Given the description of an element on the screen output the (x, y) to click on. 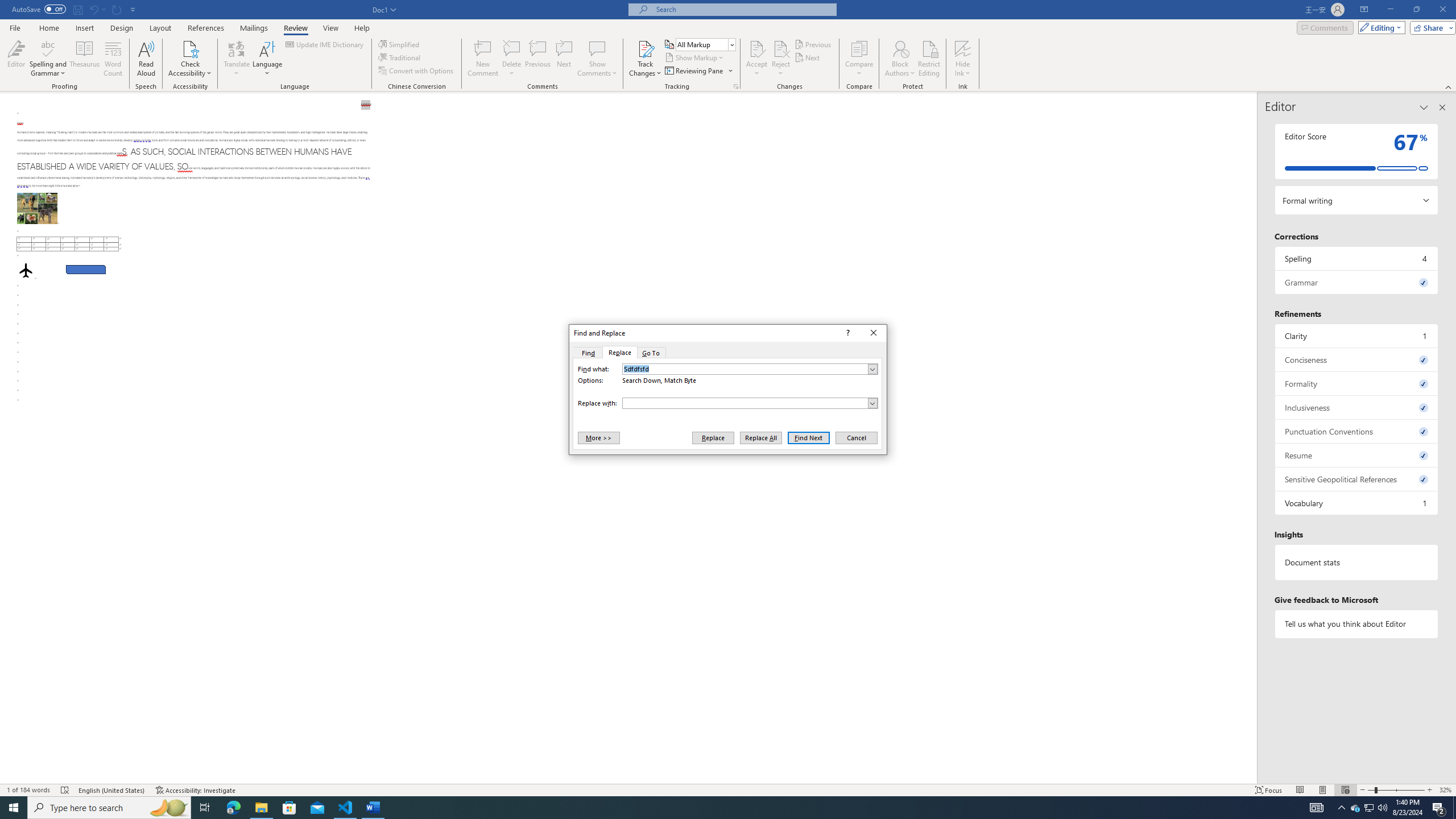
Action Center, 2 new notifications (1439, 807)
Word Count 1 of 184 words (28, 790)
Editing (1379, 27)
Find what: (749, 369)
Reviewing Pane (698, 69)
Translate (236, 58)
Show Comments (597, 48)
Undo Paragraph Alignment (92, 9)
